Given the description of an element on the screen output the (x, y) to click on. 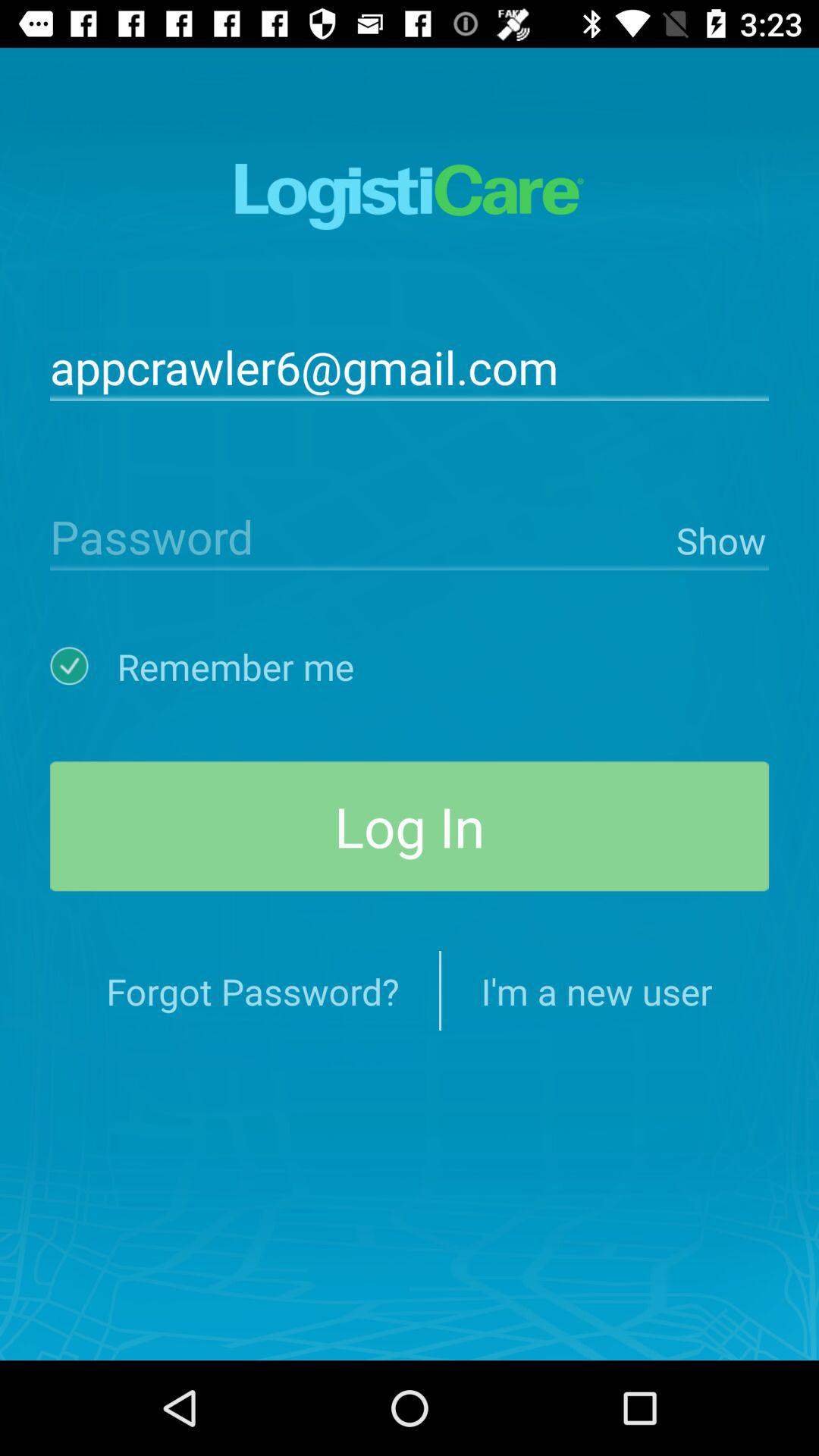
choose the item to the left of the show icon (359, 535)
